Given the description of an element on the screen output the (x, y) to click on. 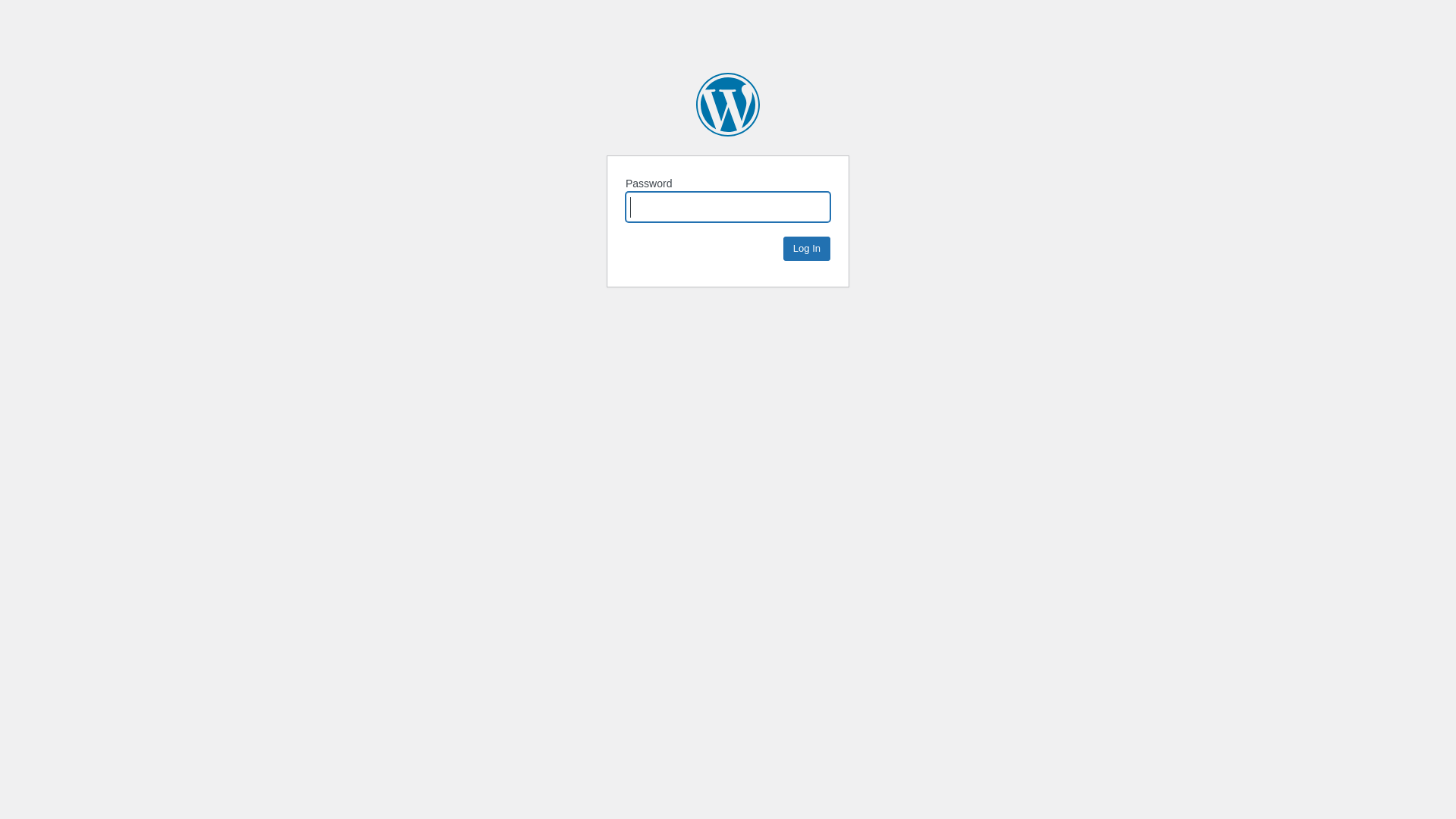
Log In Element type: text (806, 248)
IFFL Element type: text (727, 104)
